Given the description of an element on the screen output the (x, y) to click on. 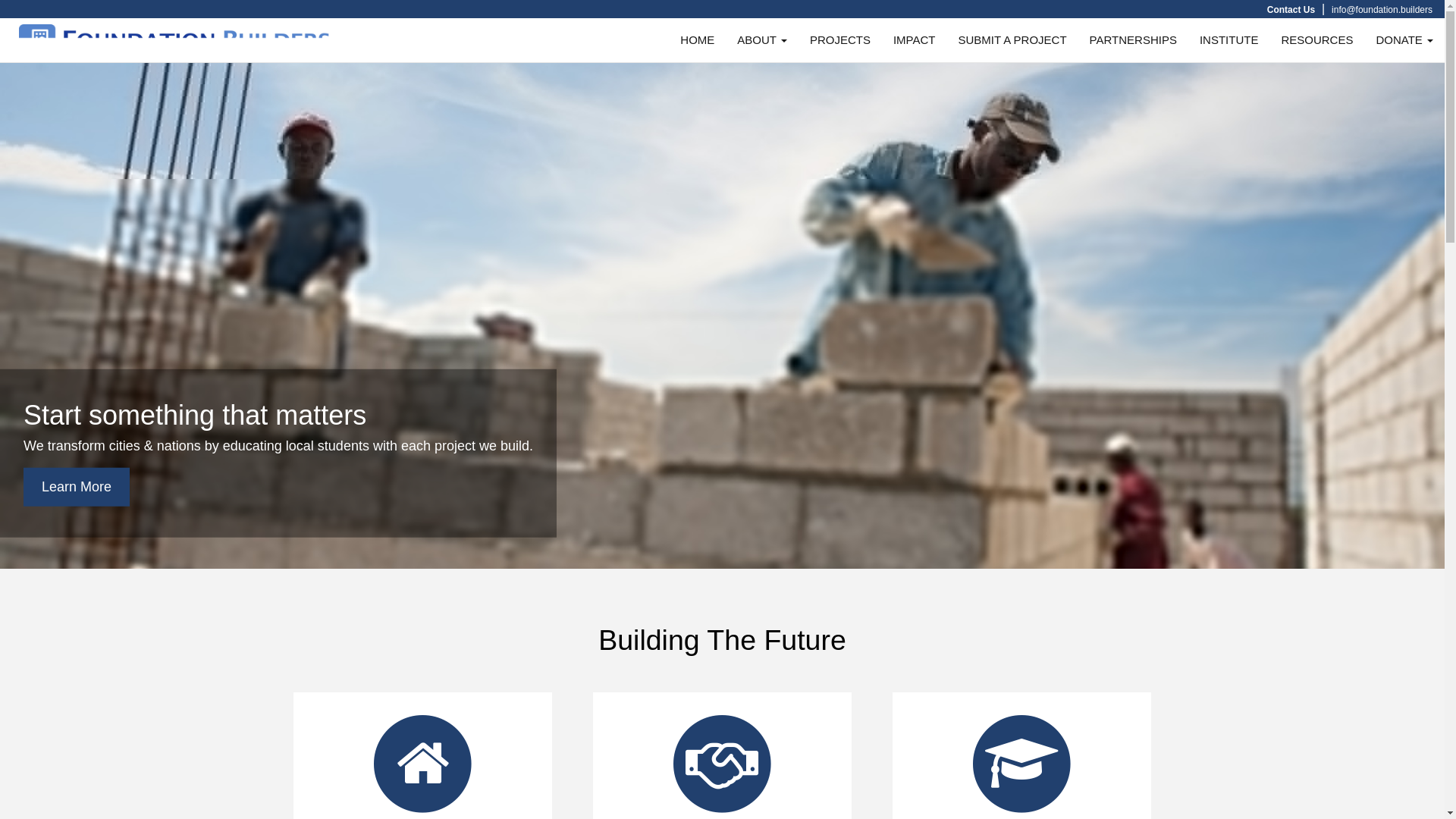
ABOUT Element type: text (761, 40)
PARTNERSHIPS Element type: text (1133, 40)
PROJECTS Element type: text (839, 40)
HOME Element type: text (696, 40)
IMPACT Element type: text (914, 40)
Contact Us Element type: text (1290, 9)
DONATE Element type: text (1404, 40)
Learn More Element type: text (76, 486)
SUBMIT A PROJECT Element type: text (1011, 40)
INSTITUTE Element type: text (1229, 40)
Learn More Element type: text (53, 440)
RESOURCES Element type: text (1316, 40)
info@foundation.builders Element type: text (1381, 9)
